Given the description of an element on the screen output the (x, y) to click on. 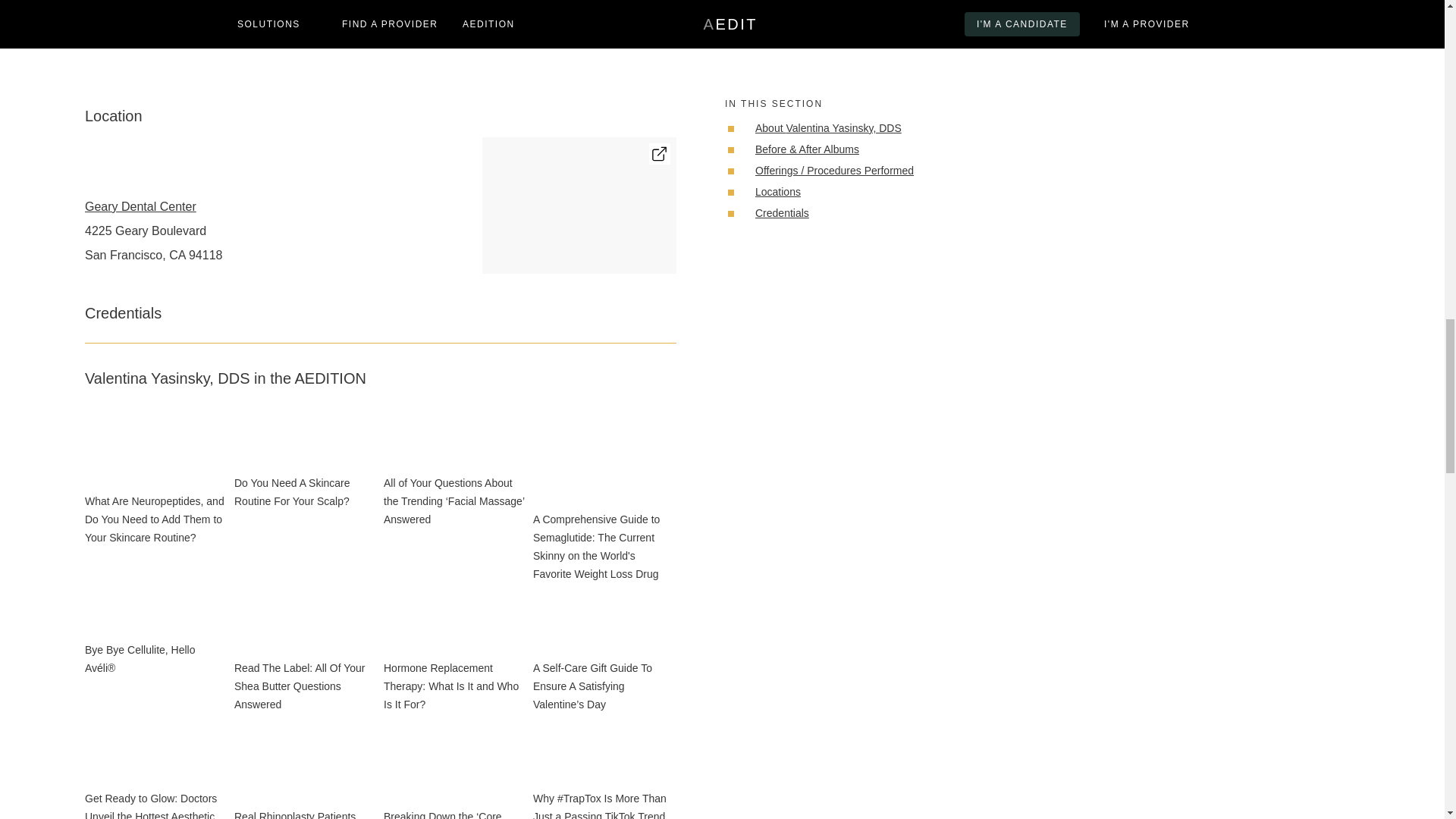
READ OUR TERMS AND CANCELLATION POLICY. (1218, 43)
